Given the description of an element on the screen output the (x, y) to click on. 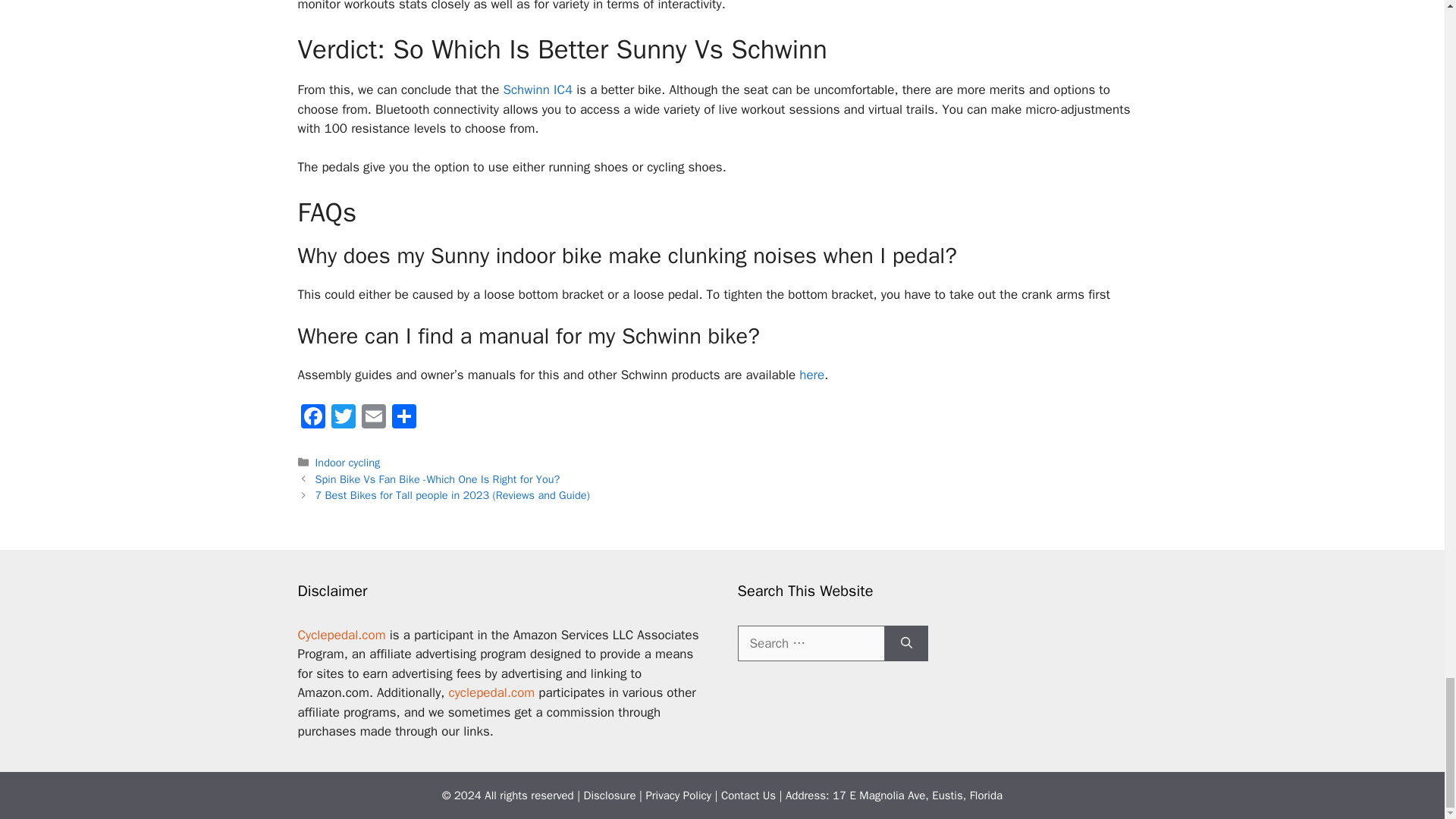
Twitter (342, 418)
Email (373, 418)
Search for: (809, 643)
Facebook (312, 418)
